Given the description of an element on the screen output the (x, y) to click on. 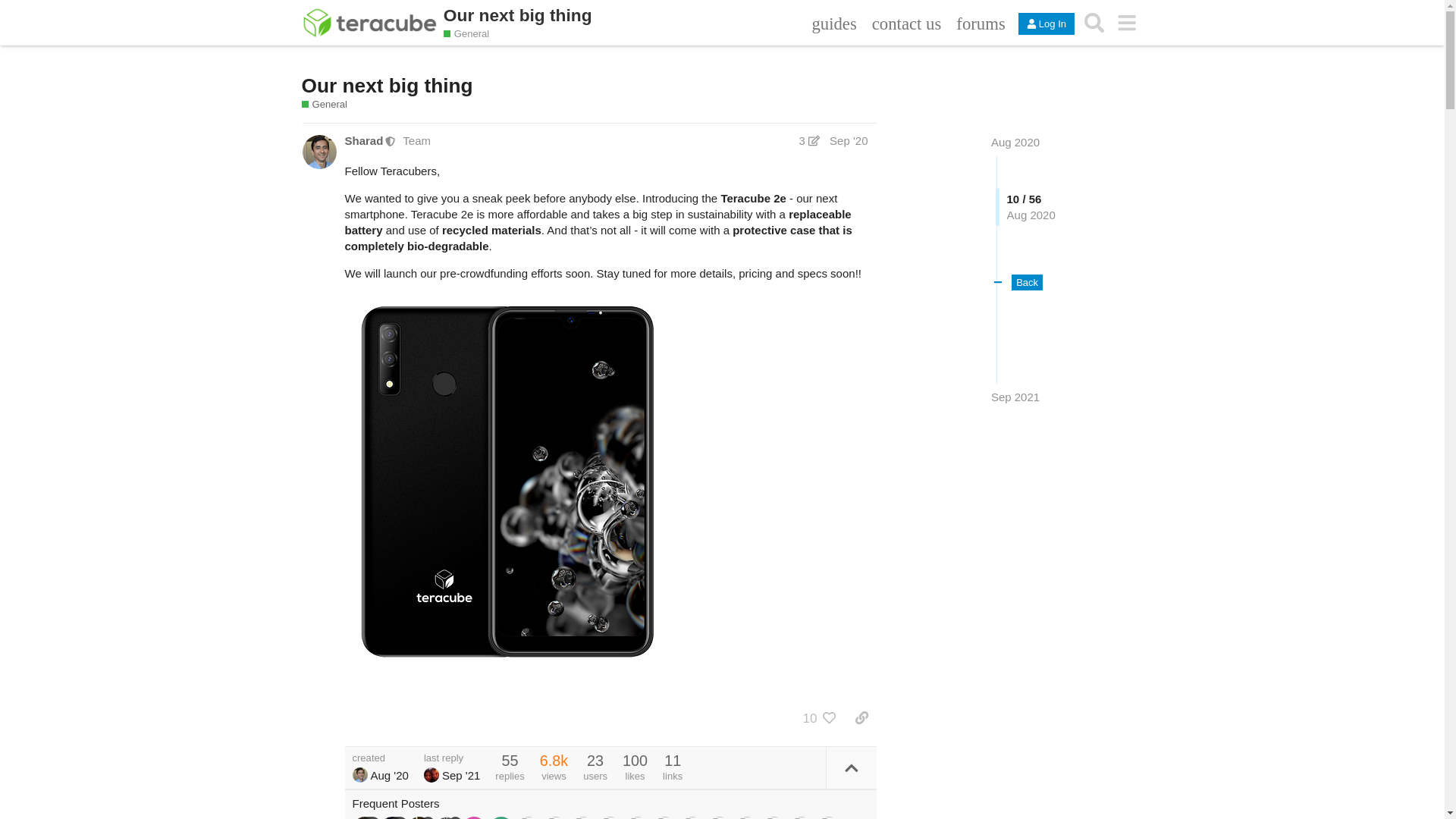
contact us (906, 23)
Search (1094, 22)
like this post (830, 718)
3 (809, 140)
Discuss topics common to all our phones here. (471, 33)
General (324, 104)
General (466, 33)
10 people liked this post (805, 718)
forums (980, 23)
Sep '20 (848, 140)
Sep 2021 (1015, 396)
last reply (451, 757)
This user is a moderator (390, 140)
Sep 1, 2020 9:06 am (848, 140)
menu (1126, 22)
